Given the description of an element on the screen output the (x, y) to click on. 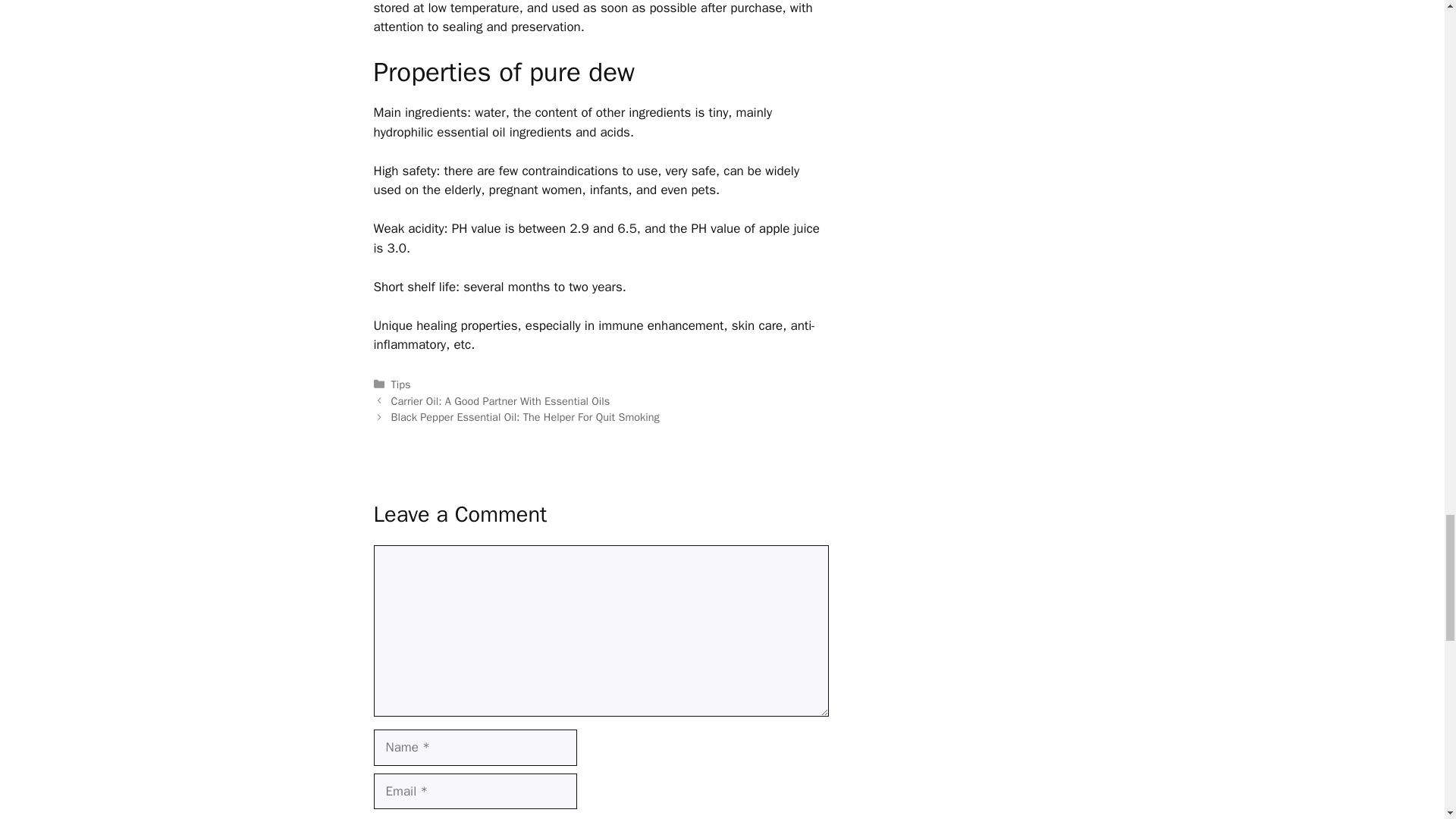
Tips (400, 384)
Black Pepper Essential Oil: The Helper For Quit Smoking (525, 417)
Carrier Oil: A Good Partner With Essential Oils (500, 400)
